Given the description of an element on the screen output the (x, y) to click on. 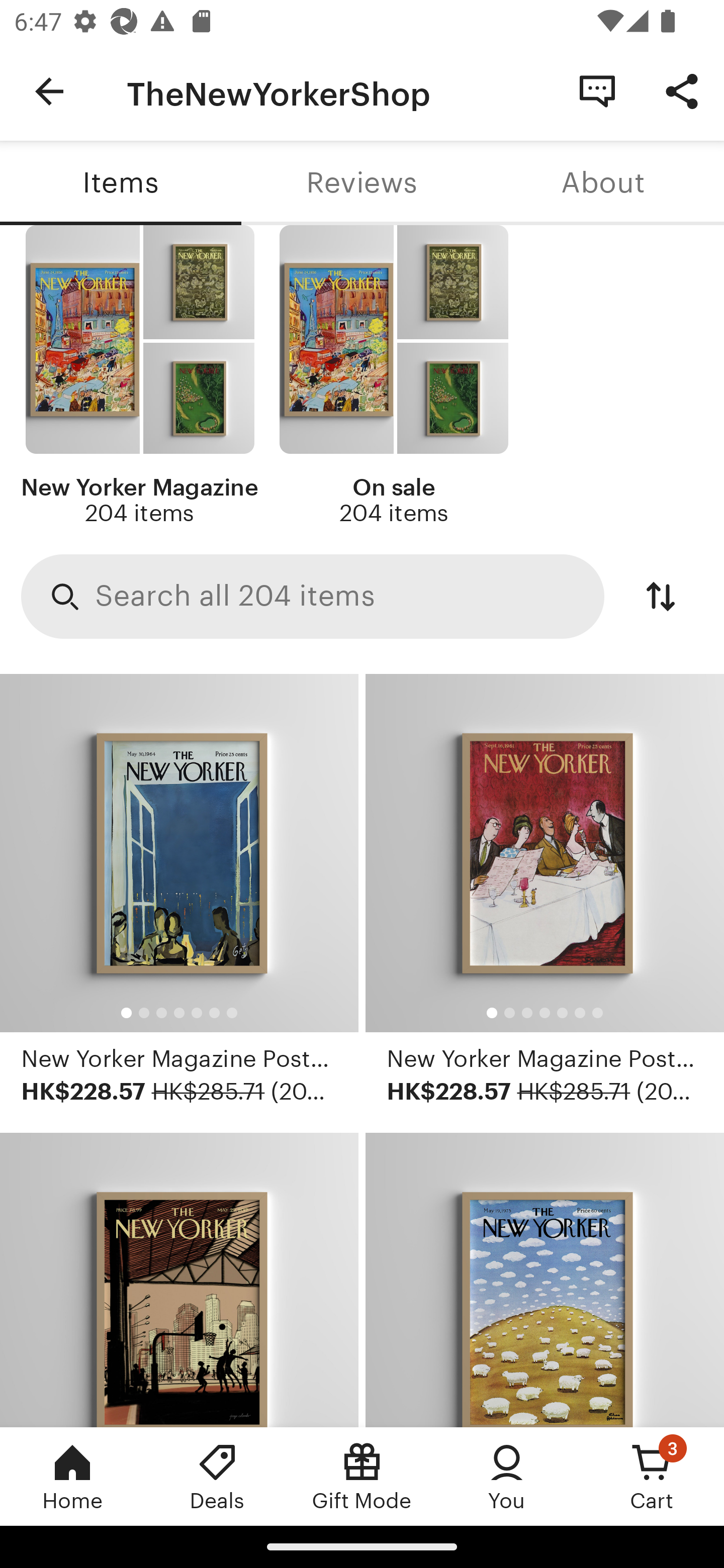
Navigate up (49, 91)
Contact Shop (597, 90)
Share (681, 90)
Reviews (361, 183)
About (603, 183)
New Yorker Magazine 204 items (139, 375)
On sale 204 items (393, 375)
Search Search all 204 items (312, 596)
Deals (216, 1475)
Gift Mode (361, 1475)
You (506, 1475)
Cart, 3 new notifications Cart (651, 1475)
